Given the description of an element on the screen output the (x, y) to click on. 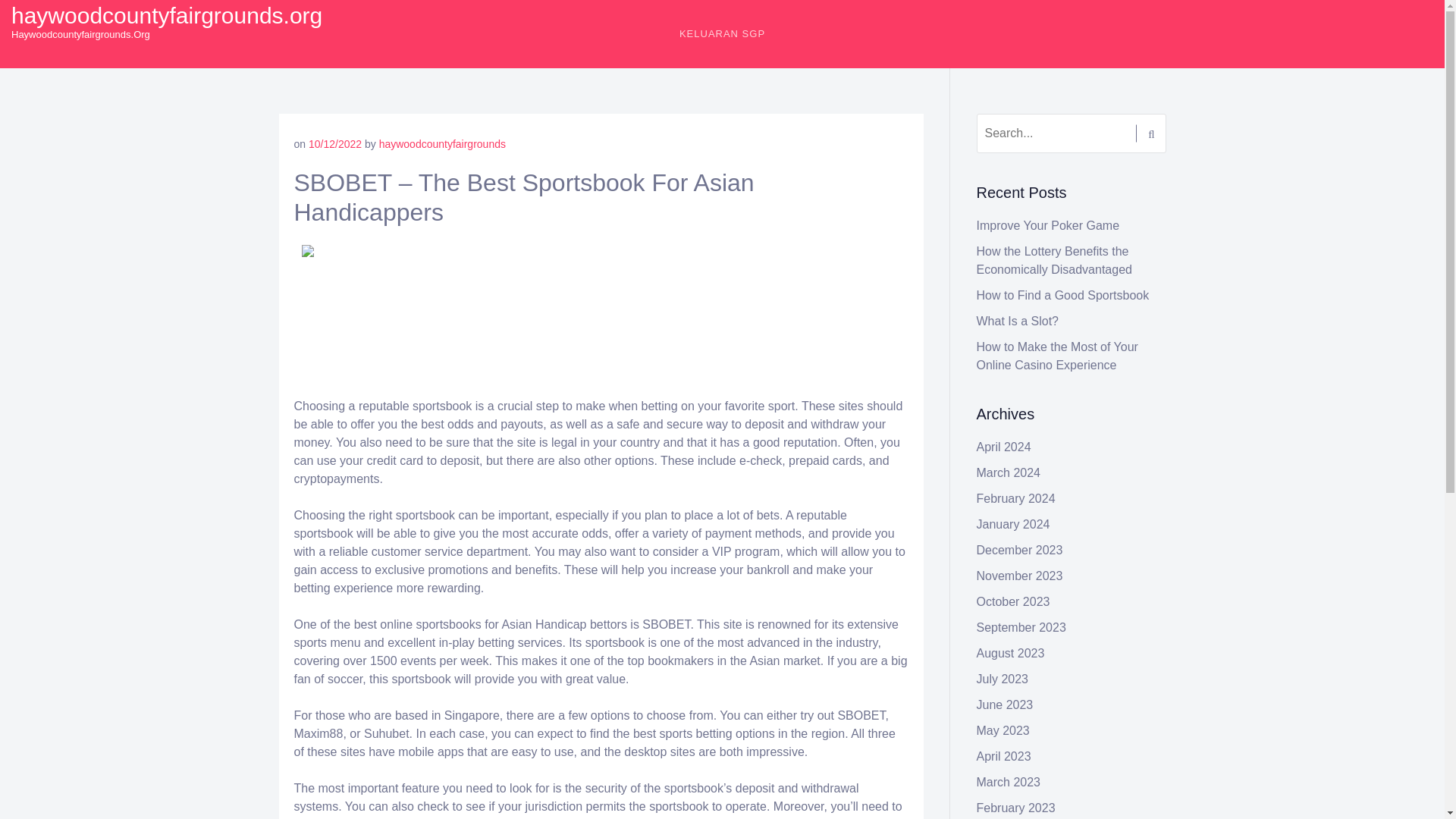
August 2023 (1010, 653)
October 2023 (1012, 601)
How to Find a Good Sportsbook (1063, 295)
November 2023 (1019, 575)
What Is a Slot? (1017, 320)
July 2023 (1002, 678)
March 2023 (1008, 781)
haywoodcountyfairgrounds (441, 143)
How the Lottery Benefits the Economically Disadvantaged (1054, 260)
June 2023 (1004, 704)
KELUARAN SGP (722, 33)
April 2023 (1003, 756)
December 2023 (1019, 549)
April 2024 (1003, 446)
February 2024 (1015, 498)
